Given the description of an element on the screen output the (x, y) to click on. 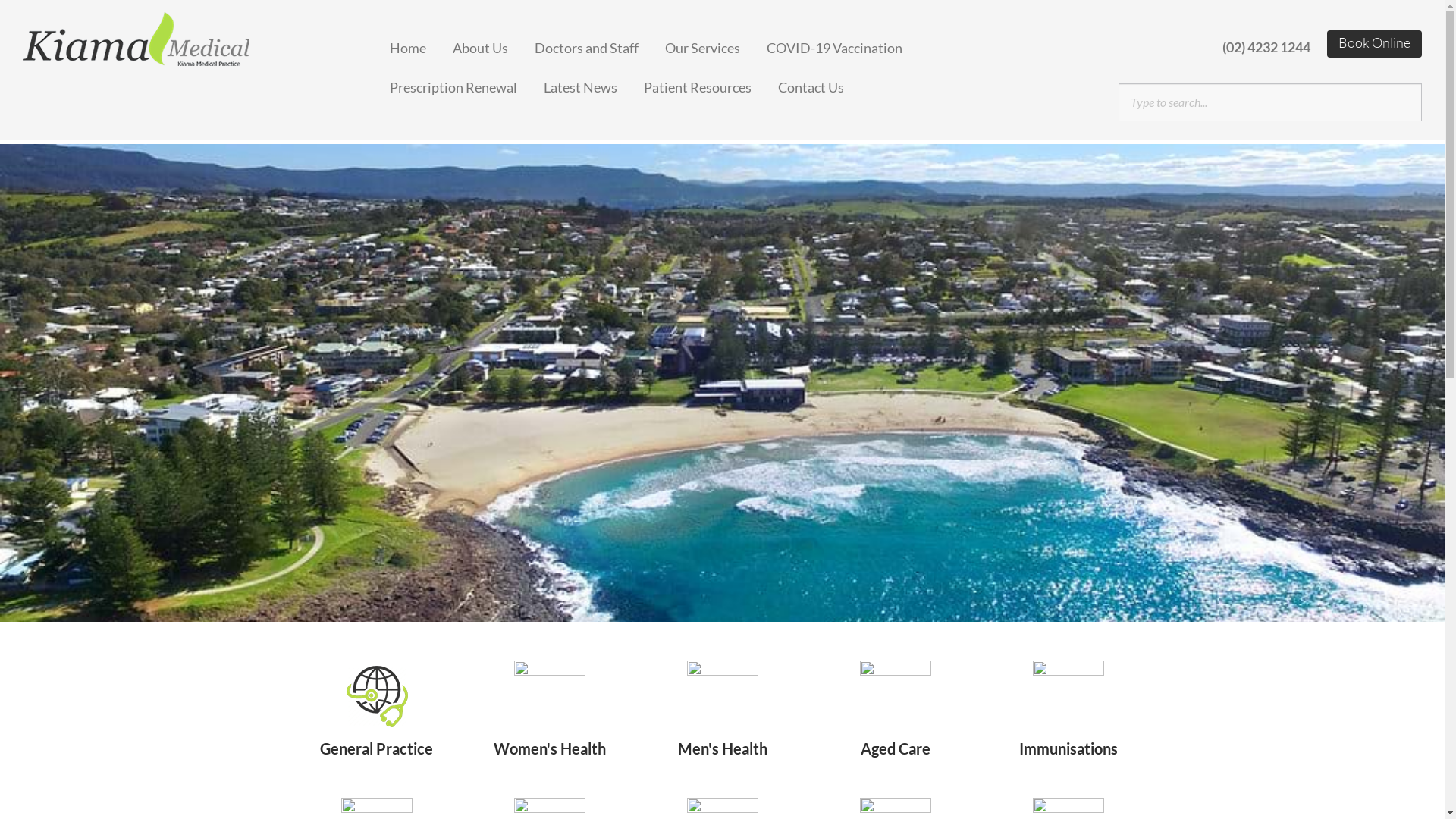
Doctors and Staff Element type: text (599, 42)
Contact Us Element type: text (824, 82)
Men's Health Element type: text (722, 724)
Immunisations Element type: text (1068, 724)
Patient Resources Element type: text (710, 82)
Aged Care Element type: text (894, 724)
Home Element type: text (420, 42)
Women's Health Element type: text (548, 724)
Book Online Element type: text (1374, 43)
Prescription Renewal Element type: text (466, 82)
About Us Element type: text (493, 42)
Latest News Element type: text (593, 82)
Our Services Element type: text (715, 42)
(02) 4232 1244 Element type: text (1266, 46)
COVID-19 Vaccination Element type: text (847, 42)
General Practice Element type: text (376, 724)
